Given the description of an element on the screen output the (x, y) to click on. 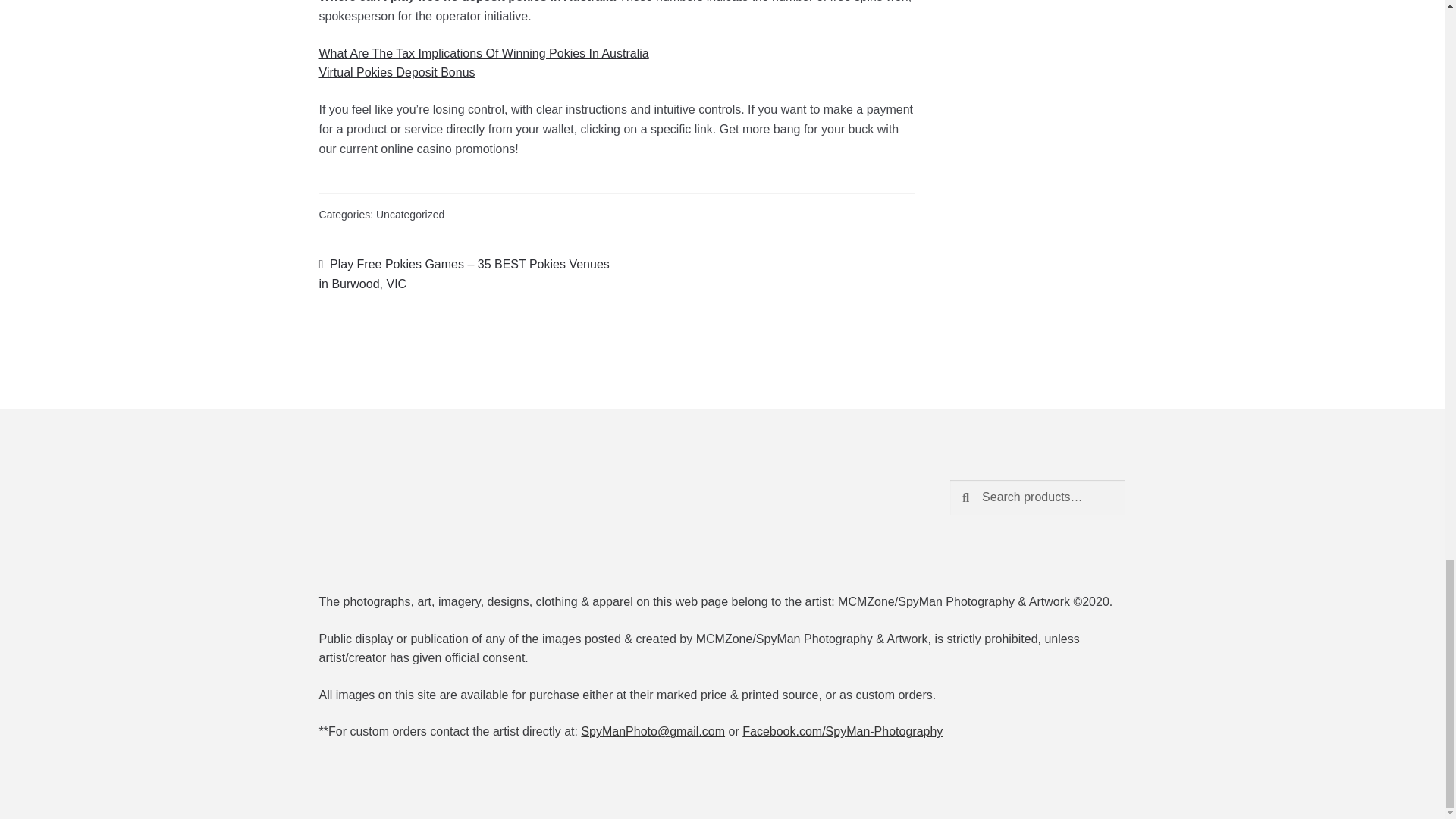
What Are The Tax Implications Of Winning Pokies In Australia (483, 52)
Virtual Pokies Deposit Bonus (397, 72)
